Given the description of an element on the screen output the (x, y) to click on. 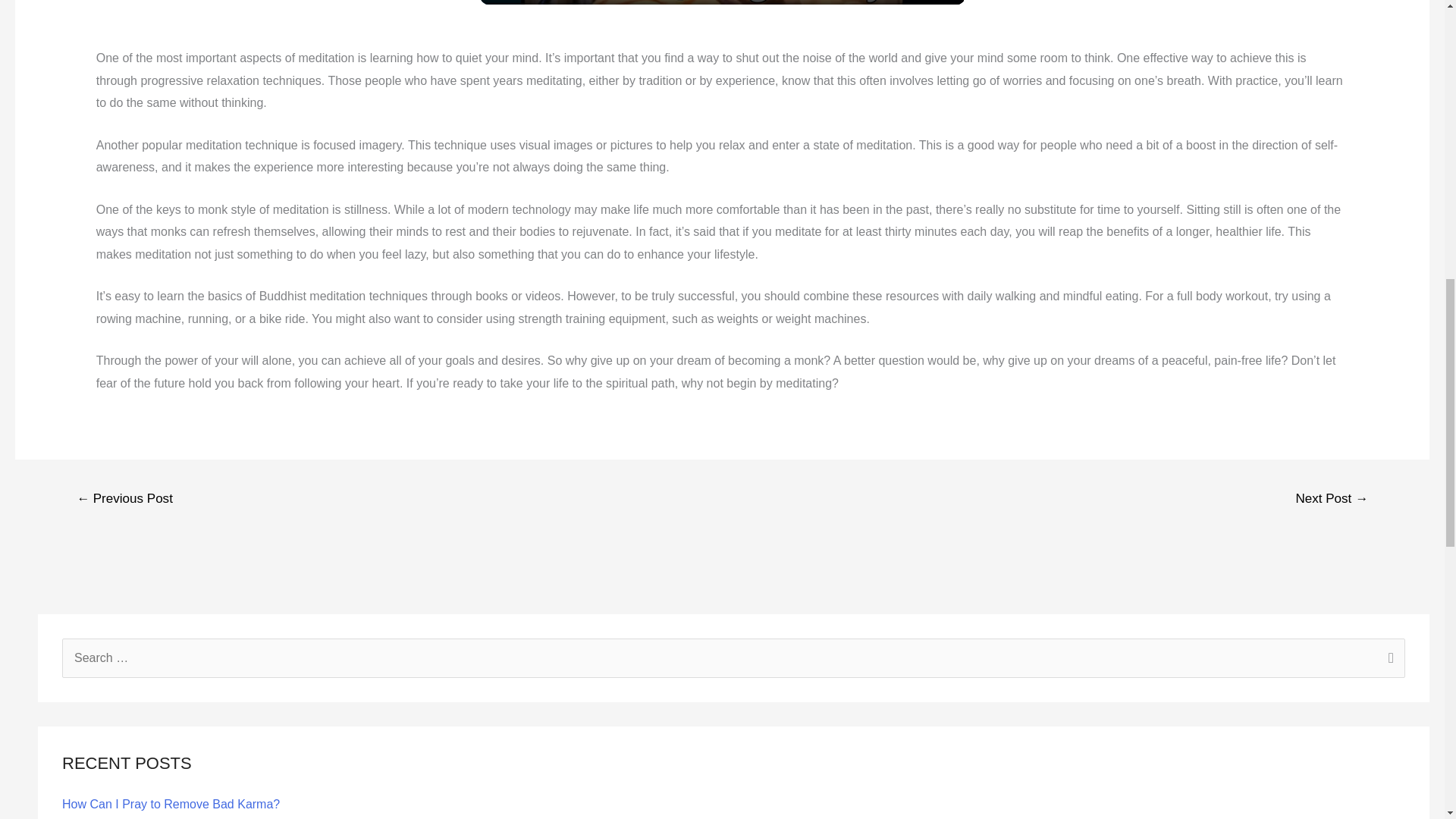
Search (1388, 659)
Search (1388, 659)
How Can I Pray to Remove Bad Karma? (170, 803)
Search (1388, 659)
